Given the description of an element on the screen output the (x, y) to click on. 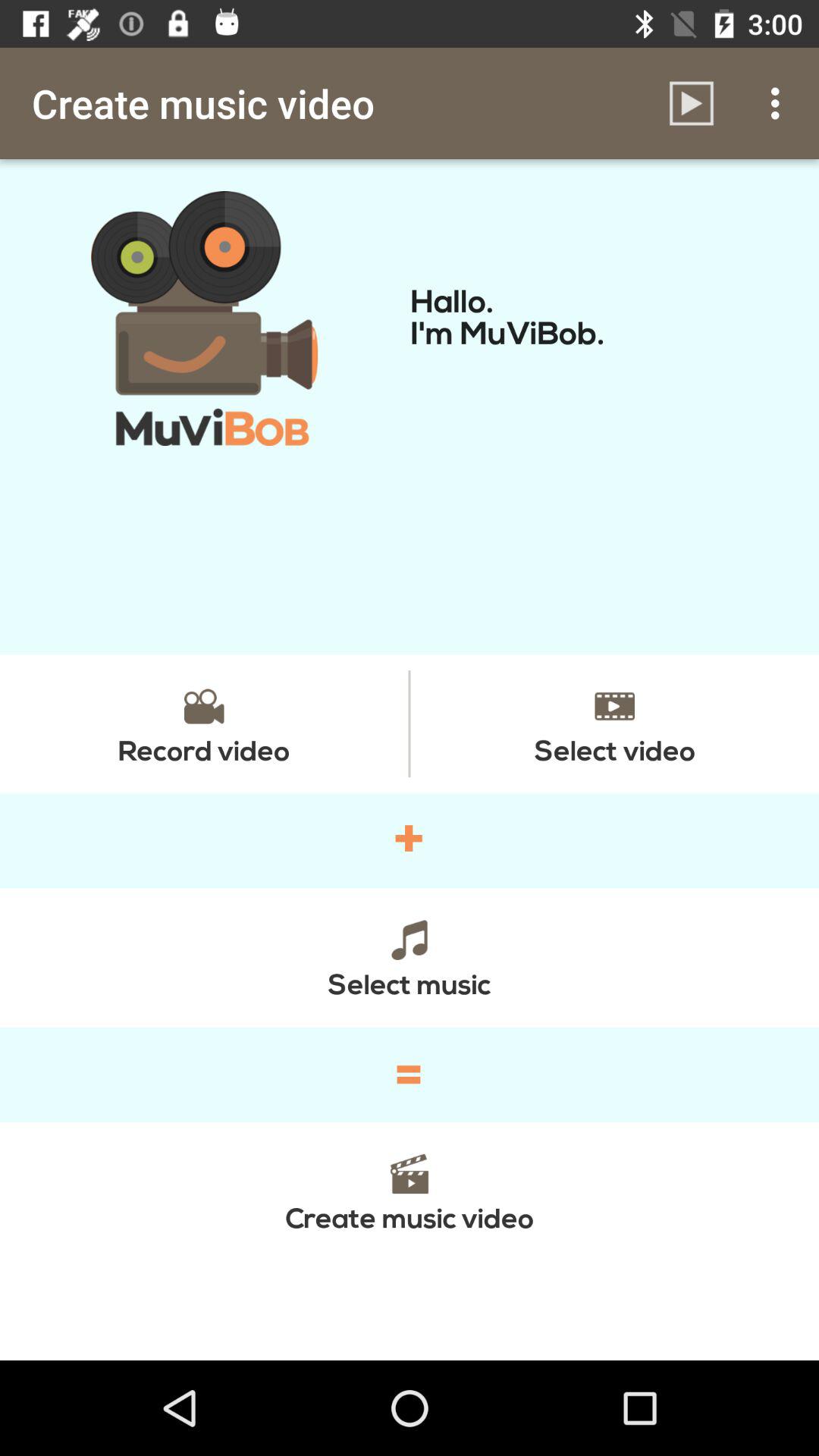
press item on the right (614, 723)
